Given the description of an element on the screen output the (x, y) to click on. 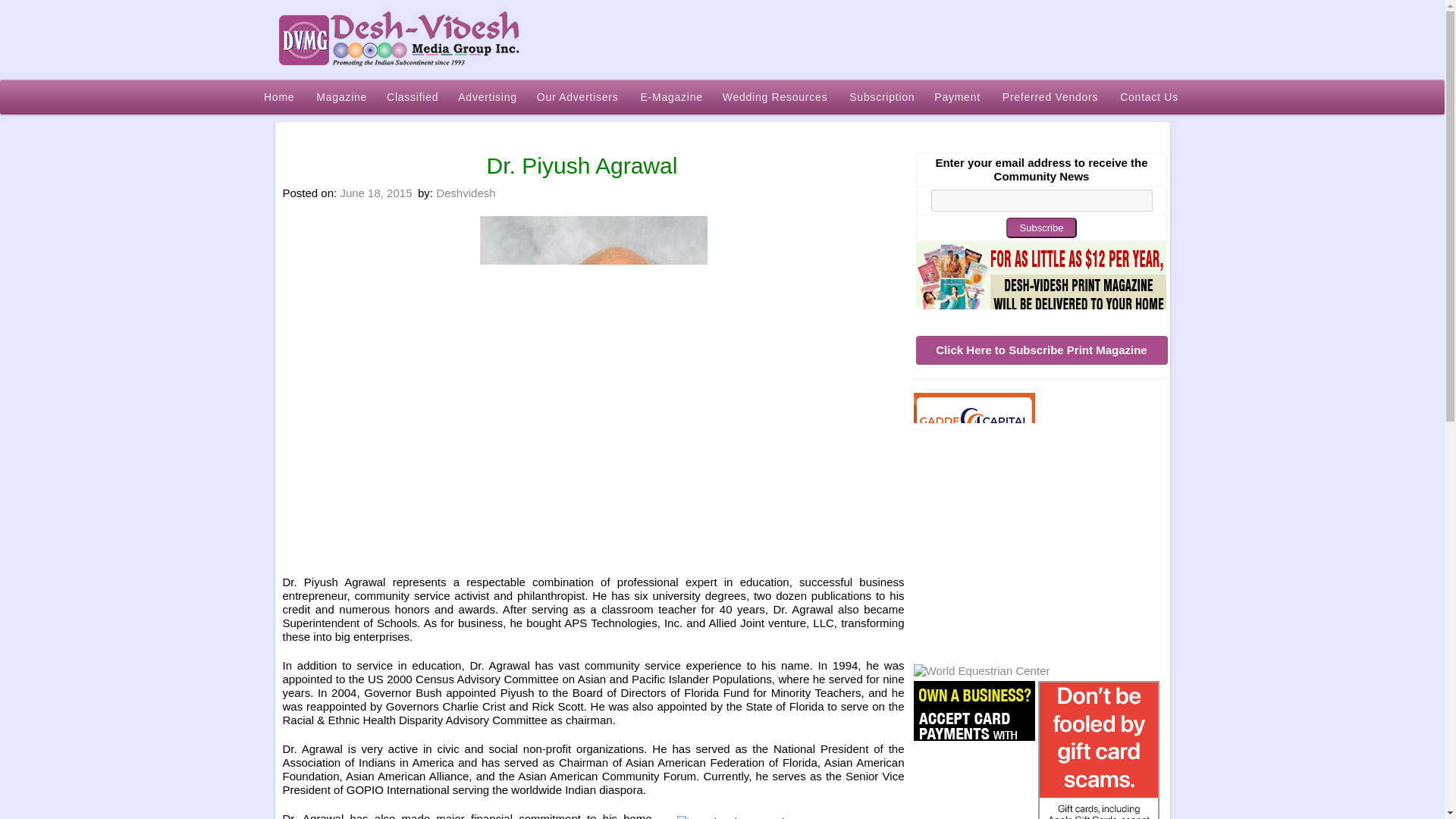
Subscription (1040, 279)
Our Advertisers (578, 96)
Magazine (341, 96)
Home (279, 96)
E-Magazine (671, 96)
Thursday, June 18th, 2015, 1:33 pm (375, 192)
Contact Us (1150, 96)
Dr. Piyush Agrawal (790, 817)
Deshvidesh (465, 192)
June 18, 2015 (375, 192)
